Given the description of an element on the screen output the (x, y) to click on. 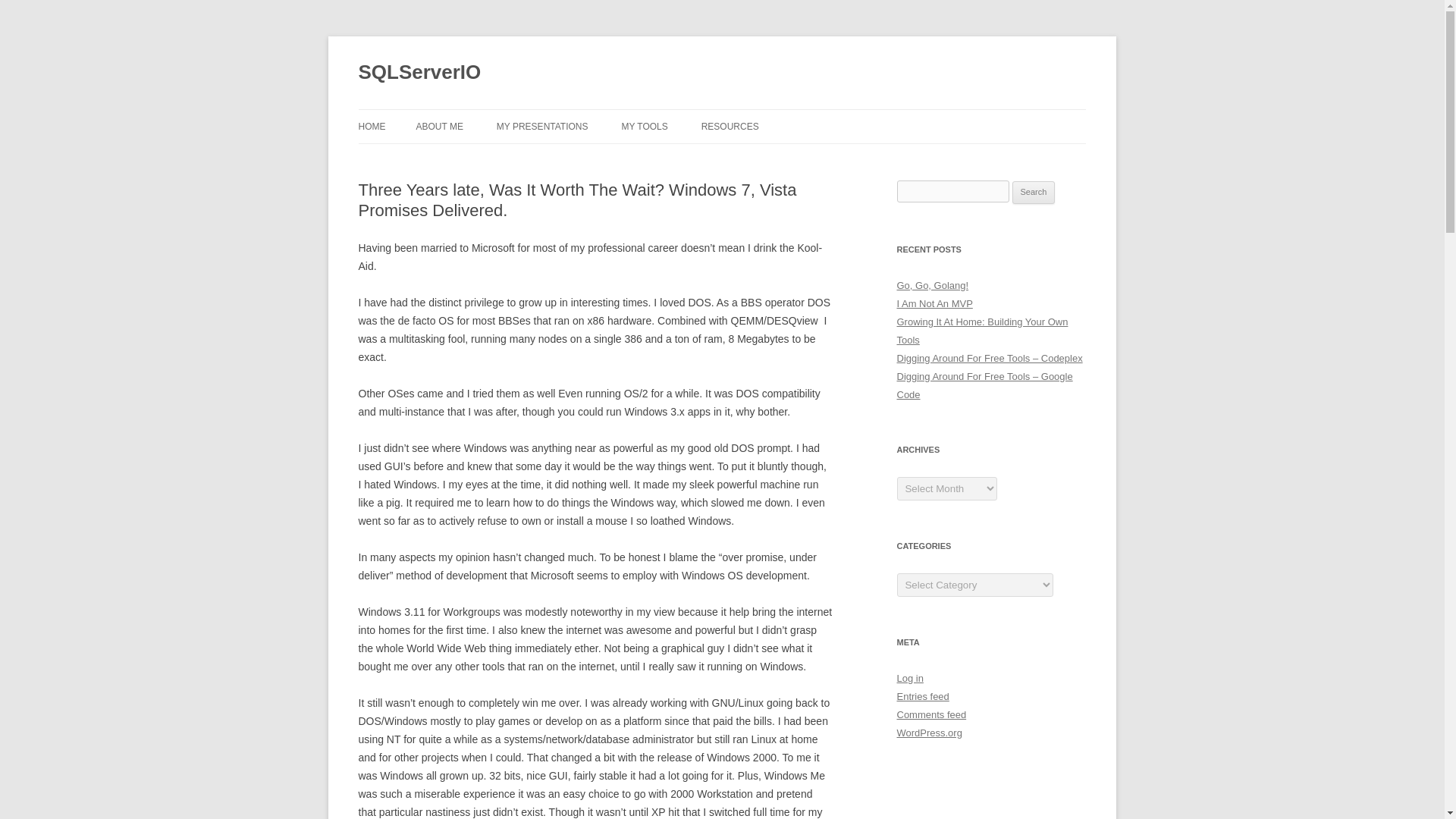
Entries feed (922, 696)
I Am Not An MVP (934, 303)
MY PRESENTATIONS (542, 126)
Growing It At Home: Building Your Own Tools (981, 330)
Search (1033, 191)
WordPress.org (928, 732)
Log in (909, 677)
SQLServerIO (419, 72)
Comments feed (931, 714)
Search (1033, 191)
MY TOOLS (643, 126)
Go, Go, Golang! (932, 285)
SQLServerIO (419, 72)
